Given the description of an element on the screen output the (x, y) to click on. 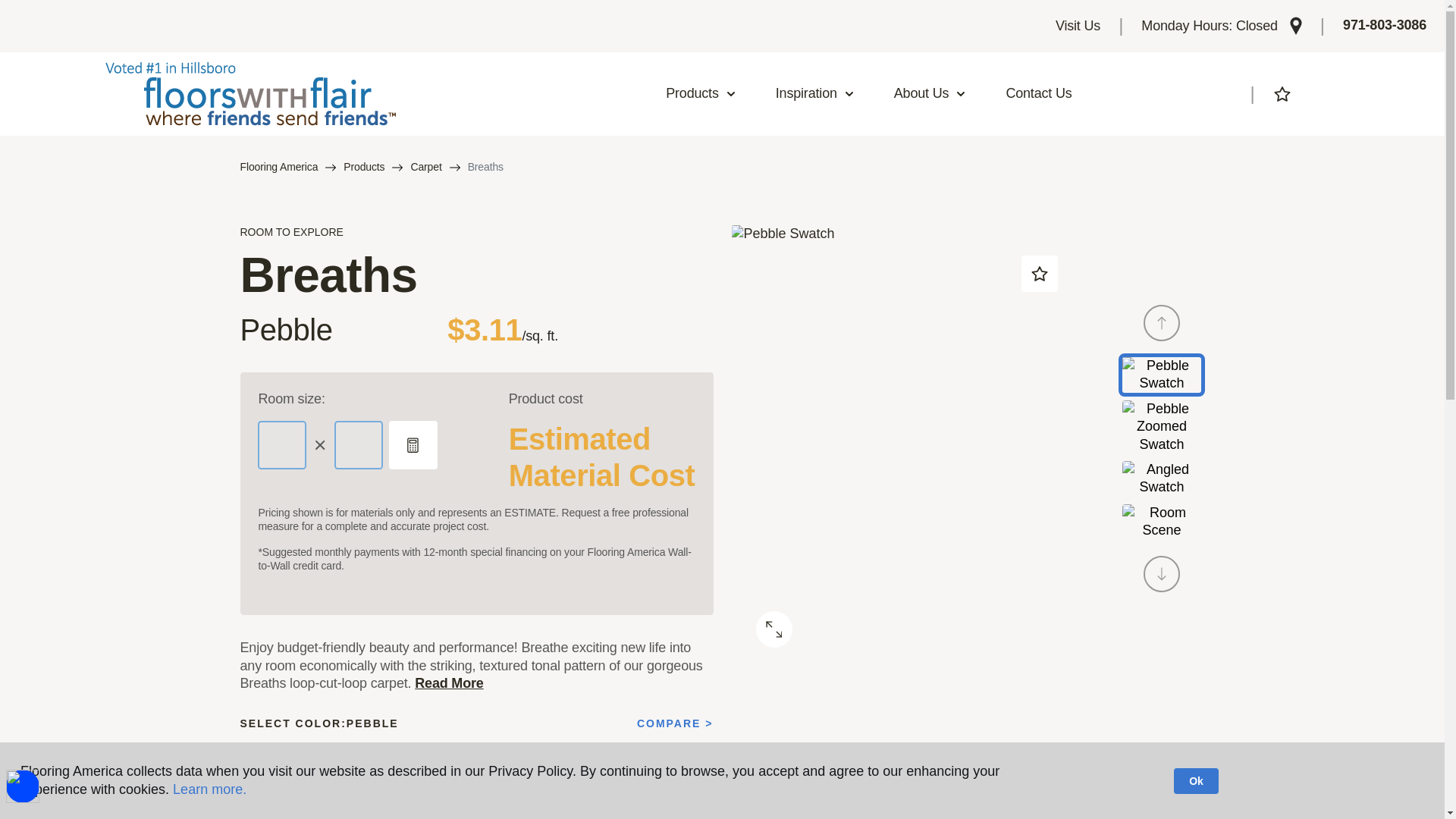
Accessibility Menu (22, 786)
Contact Us (1038, 94)
971-803-3086 (1384, 25)
Products (700, 94)
Visit Us (1077, 26)
About Us (930, 94)
Inspiration (815, 94)
